Given the description of an element on the screen output the (x, y) to click on. 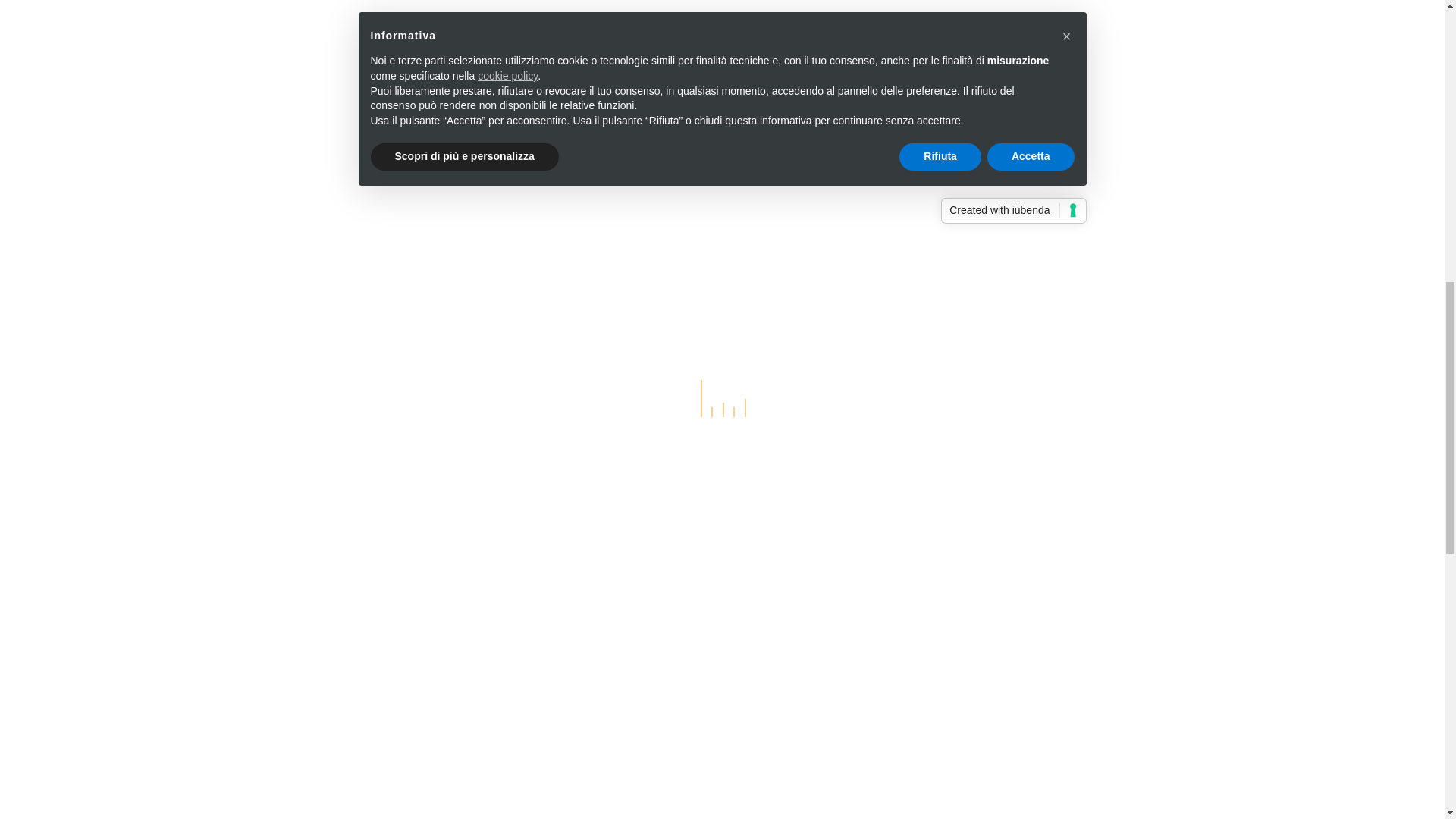
Instagram (645, 807)
Home (335, 804)
LinkedIn (610, 807)
